Given the description of an element on the screen output the (x, y) to click on. 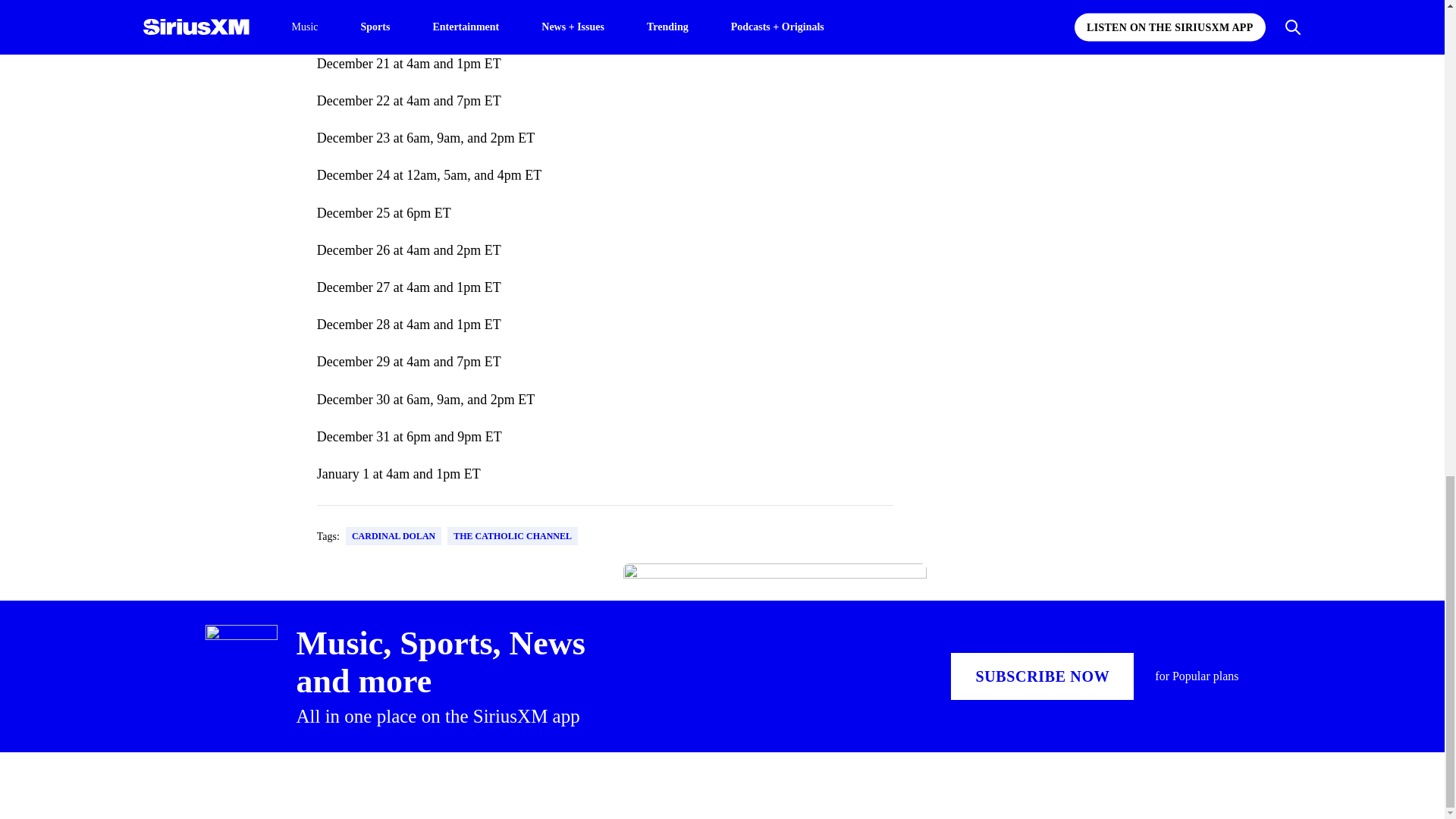
CARDINAL DOLAN (393, 536)
THE CATHOLIC CHANNEL (512, 536)
SUBSCRIBE NOW (1042, 676)
